Given the description of an element on the screen output the (x, y) to click on. 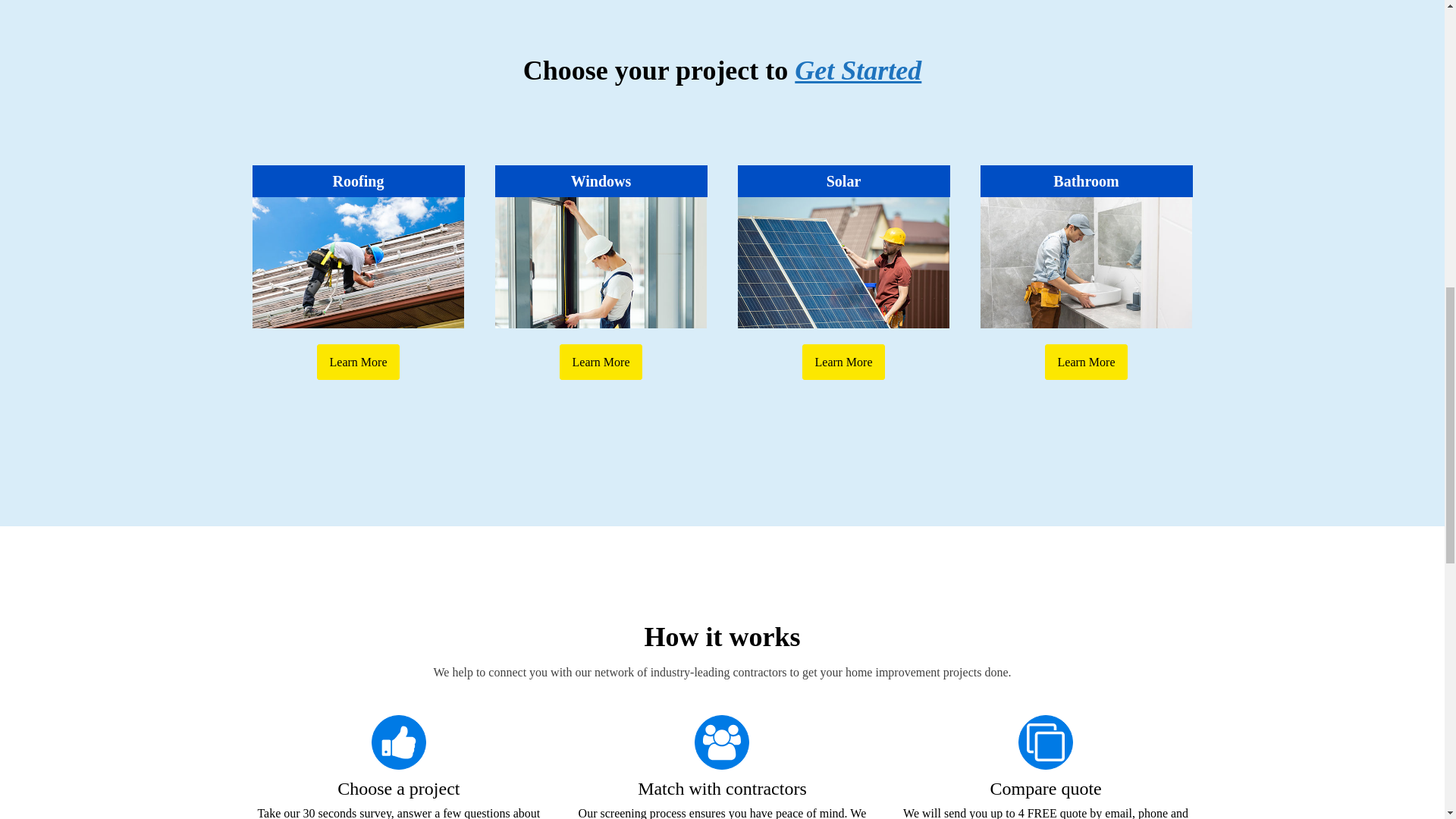
Learn More (601, 361)
Learn More (843, 361)
Learn More (1086, 361)
Learn More (358, 361)
